Given the description of an element on the screen output the (x, y) to click on. 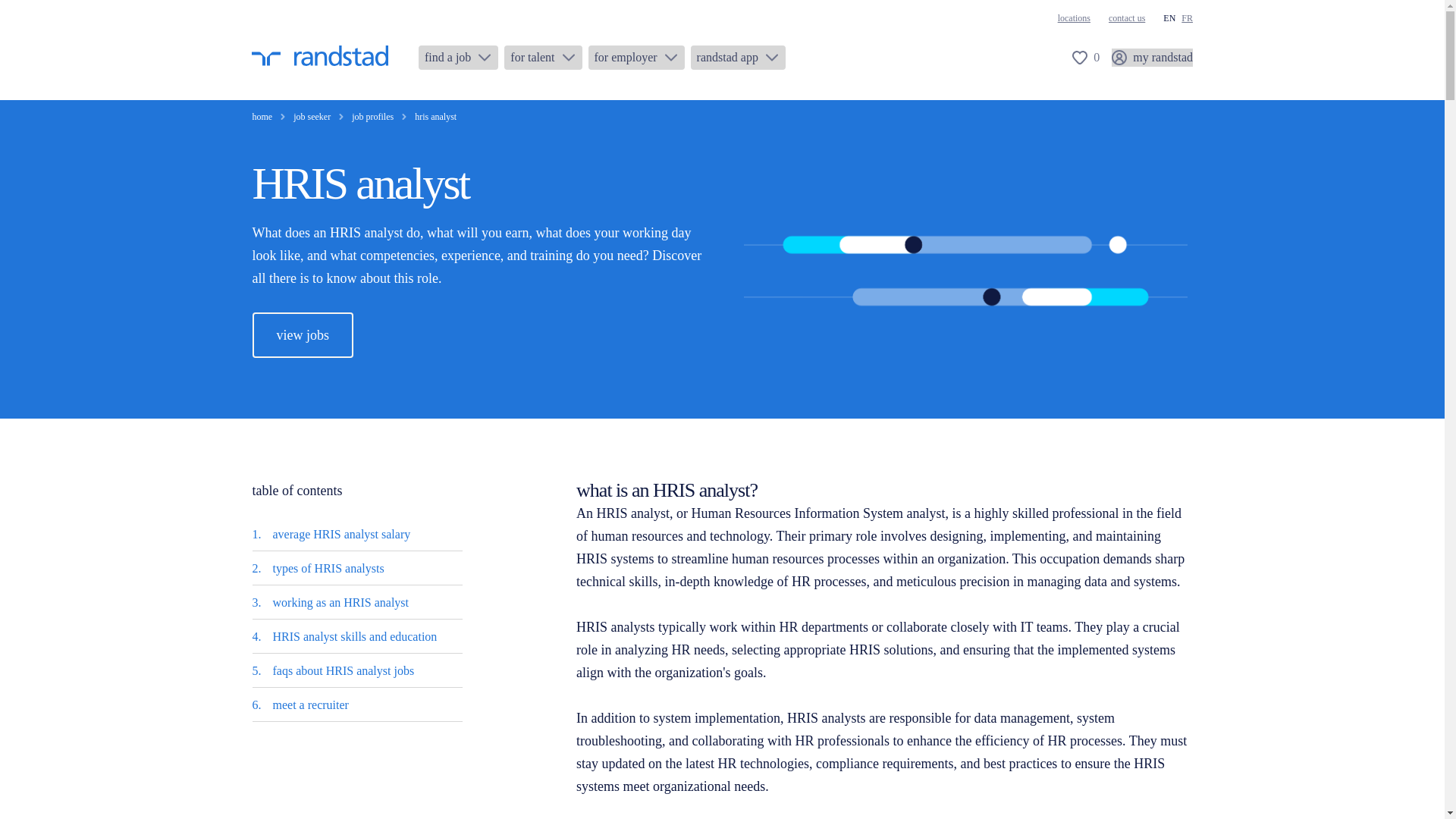
faqs about HRIS analyst jobs (343, 670)
HRIS analyst skills and education (355, 635)
for talent (541, 57)
FR (1186, 18)
meet a recruiter (311, 704)
locations (1074, 18)
types of HRIS analysts (328, 567)
find a job (458, 57)
HRIS analyst jobs (302, 334)
average HRIS analyst salary (341, 533)
